Given the description of an element on the screen output the (x, y) to click on. 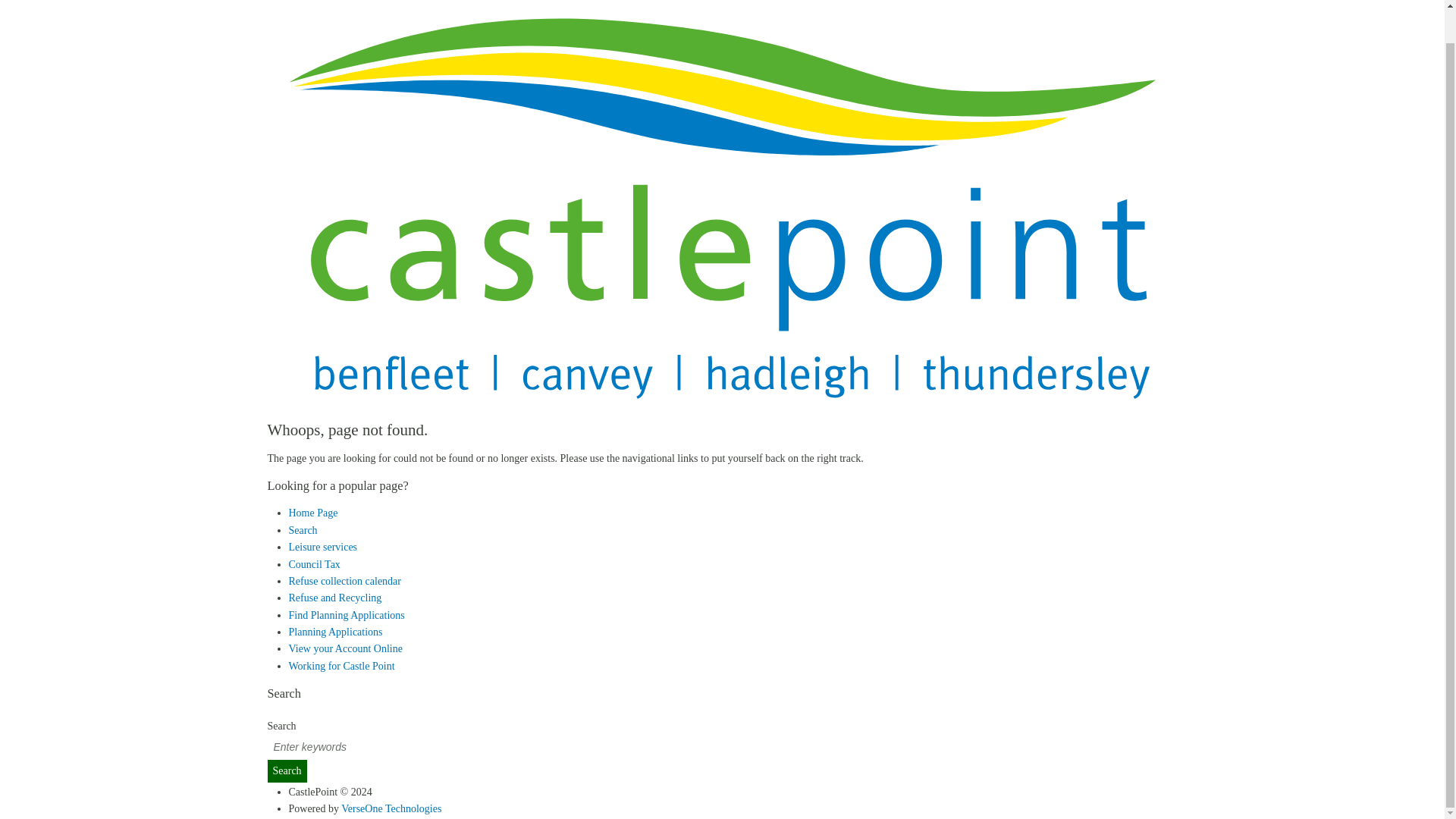
Working for Castle Point (341, 665)
Leisure services (322, 546)
Search (285, 771)
View your Account Online (344, 648)
search (727, 747)
VerseOne Technologies (390, 808)
Council Tax (313, 564)
Search (285, 771)
Home Page (312, 512)
Refuse collection calendar (344, 581)
